Given the description of an element on the screen output the (x, y) to click on. 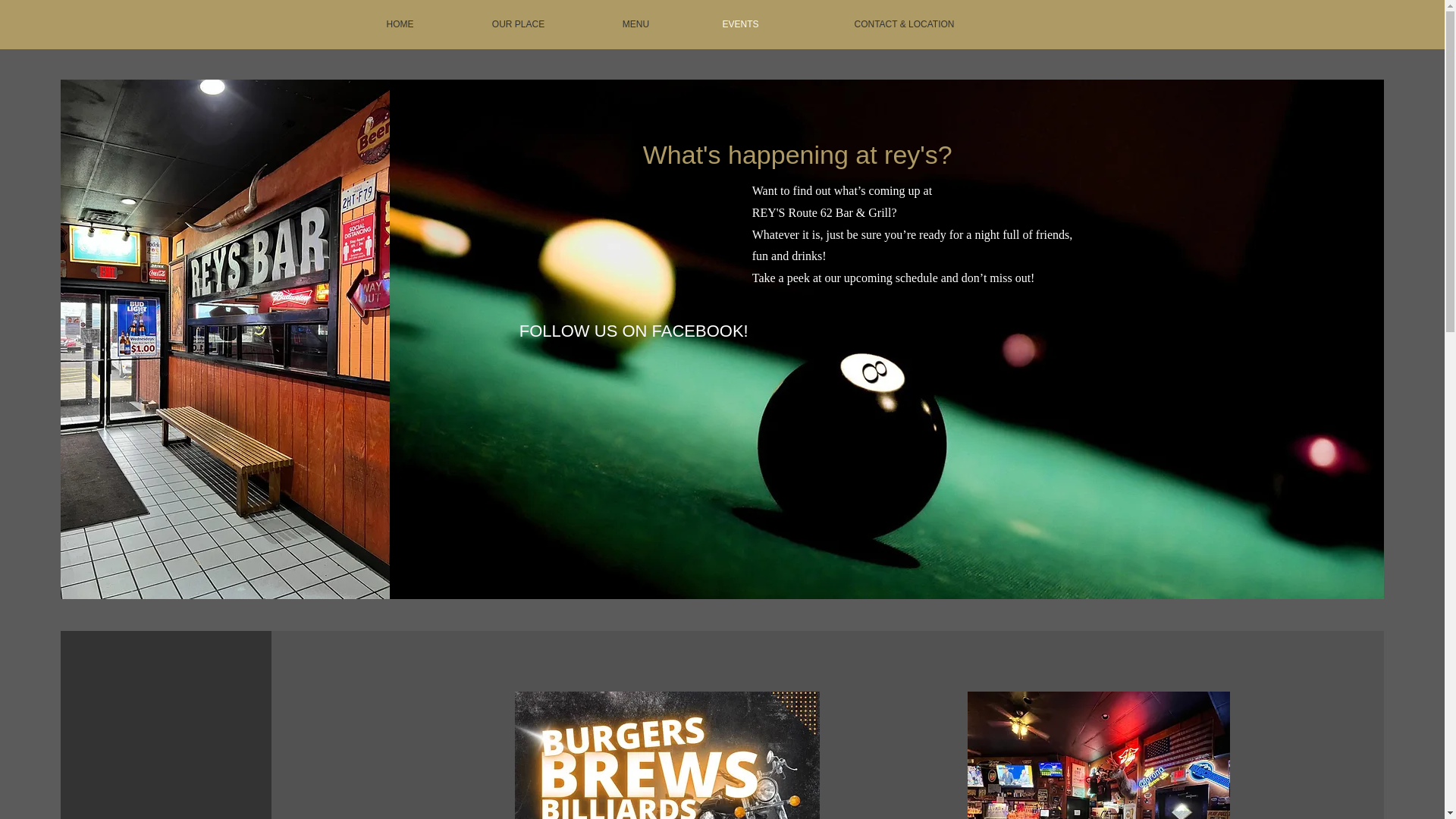
OUR PLACE (517, 24)
MENU (635, 24)
EVENTS (740, 24)
HOME (399, 24)
